Given the description of an element on the screen output the (x, y) to click on. 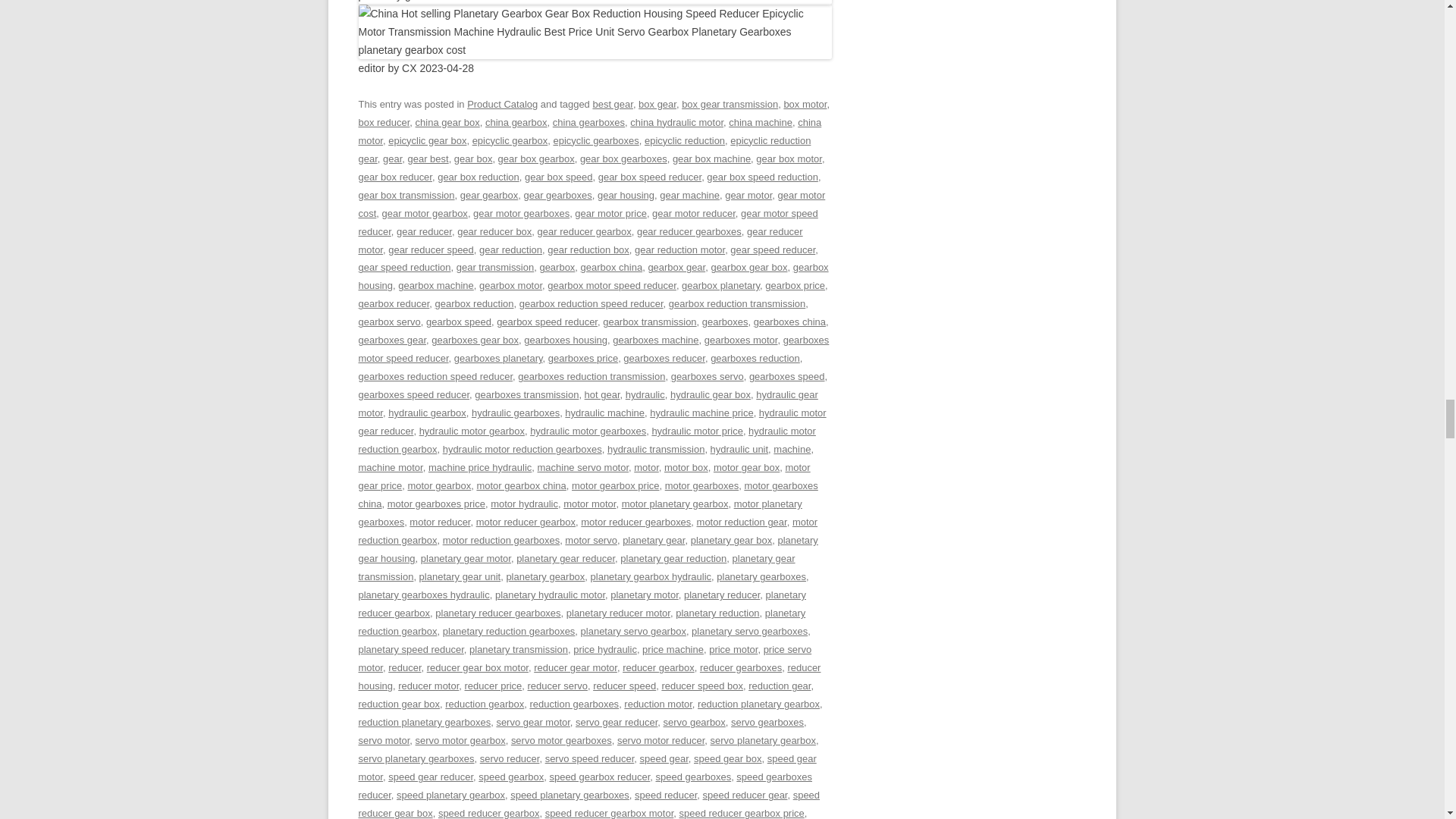
box reducer (383, 122)
china gearboxes (588, 122)
best gear (611, 103)
box motor (805, 103)
china gear box (447, 122)
china machine (760, 122)
china motor (589, 131)
box gear transmission (729, 103)
Product Catalog (502, 103)
china hydraulic motor (676, 122)
